Given the description of an element on the screen output the (x, y) to click on. 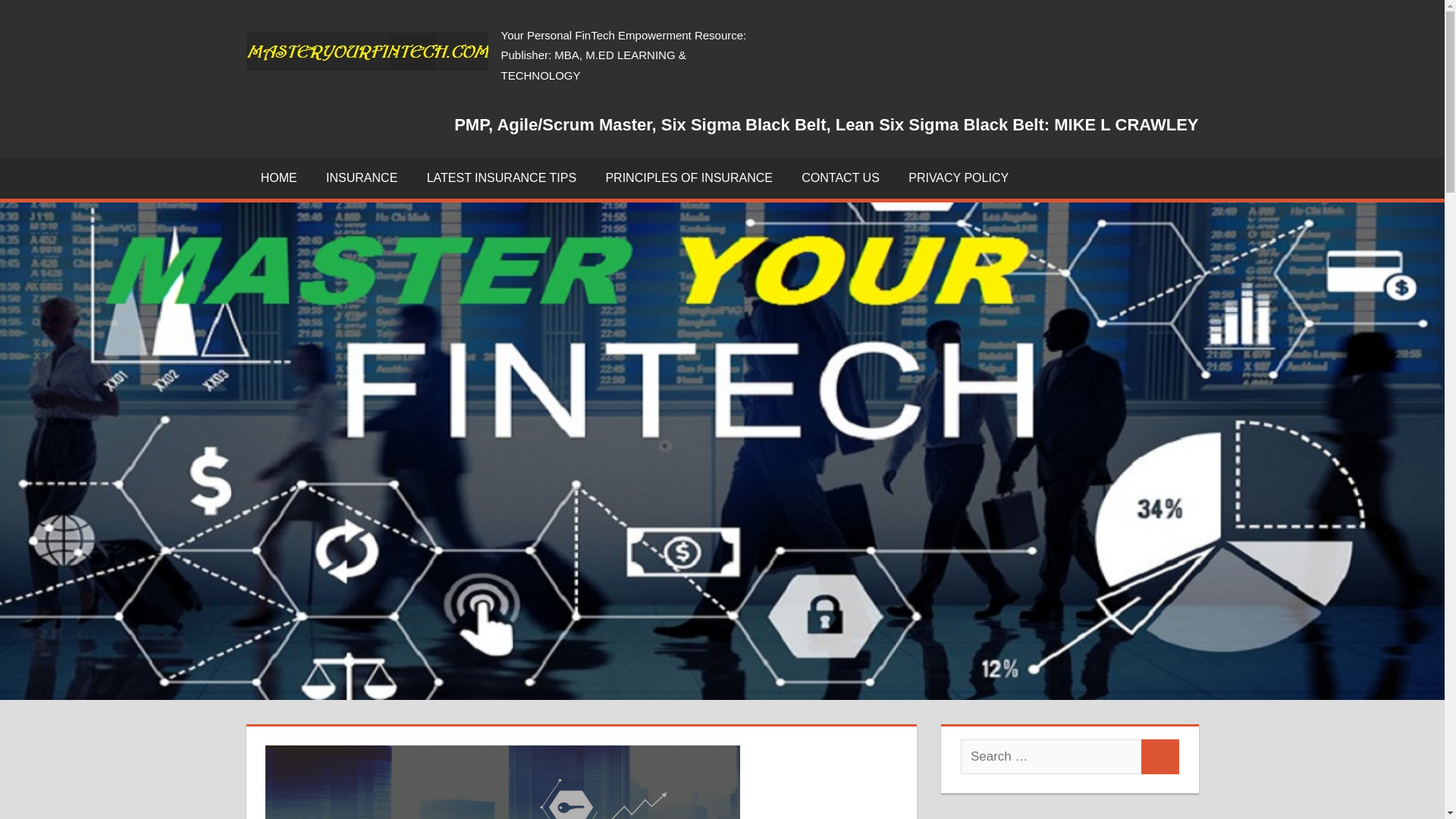
HOME (278, 178)
Search (1160, 756)
Search for: (1050, 756)
PRINCIPLES OF INSURANCE (689, 178)
PRIVACY POLICY (958, 178)
LATEST INSURANCE TIPS (501, 178)
INSURANCE (361, 178)
CONTACT US (840, 178)
